Given the description of an element on the screen output the (x, y) to click on. 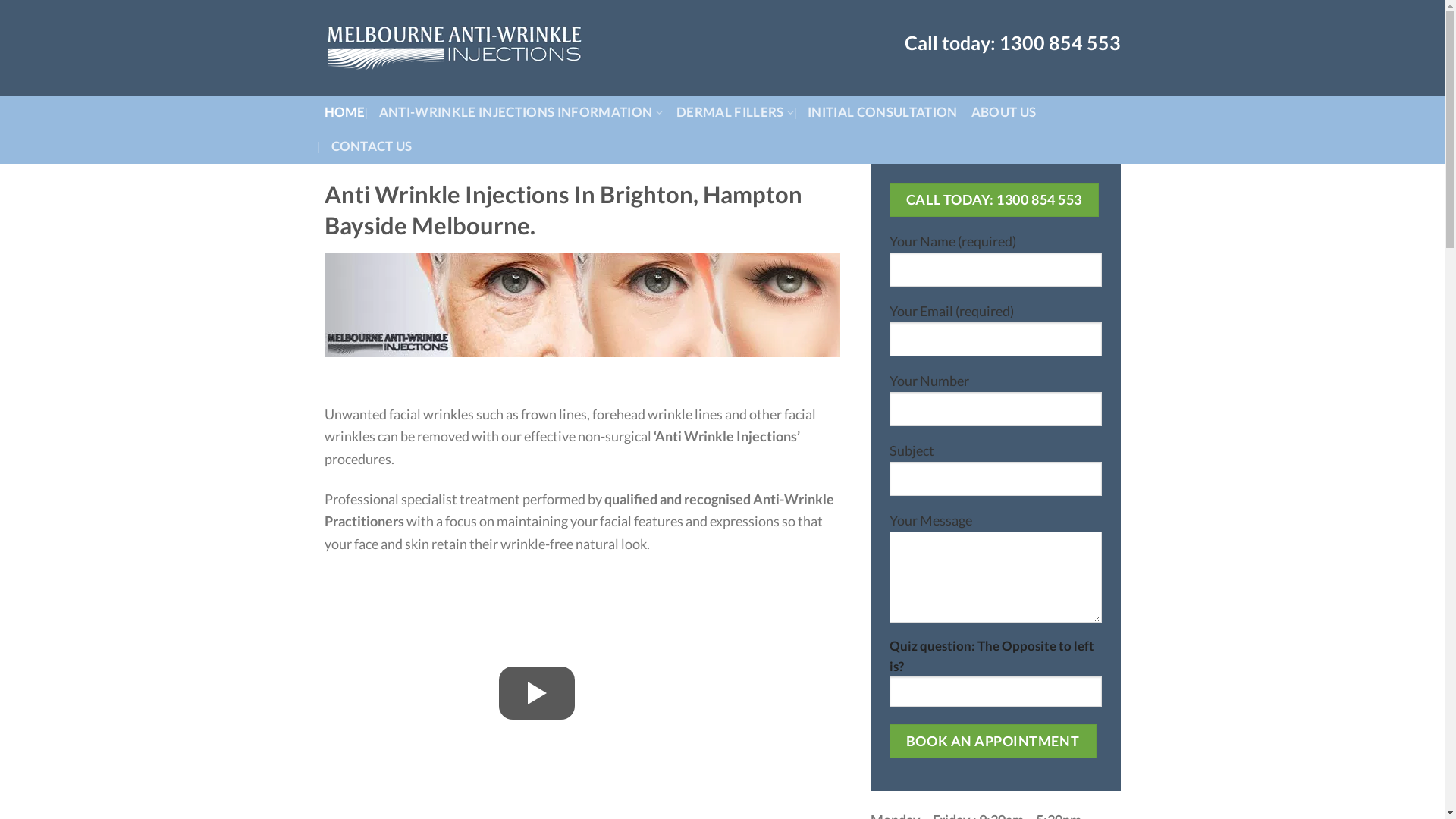
Book an Appointment Element type: text (991, 741)
Melbourne Anti Wrinkle Injections Element type: hover (455, 47)
ABOUT US Element type: text (1003, 112)
DERMAL FILLERS Element type: text (734, 112)
ANTI-WRINKLE INJECTIONS INFORMATION Element type: text (520, 112)
Call today: 1300 854 553 Element type: text (993, 199)
INITIAL CONSULTATION Element type: text (882, 112)
CONTACT US Element type: text (370, 146)
HOME Element type: text (344, 112)
